Given the description of an element on the screen output the (x, y) to click on. 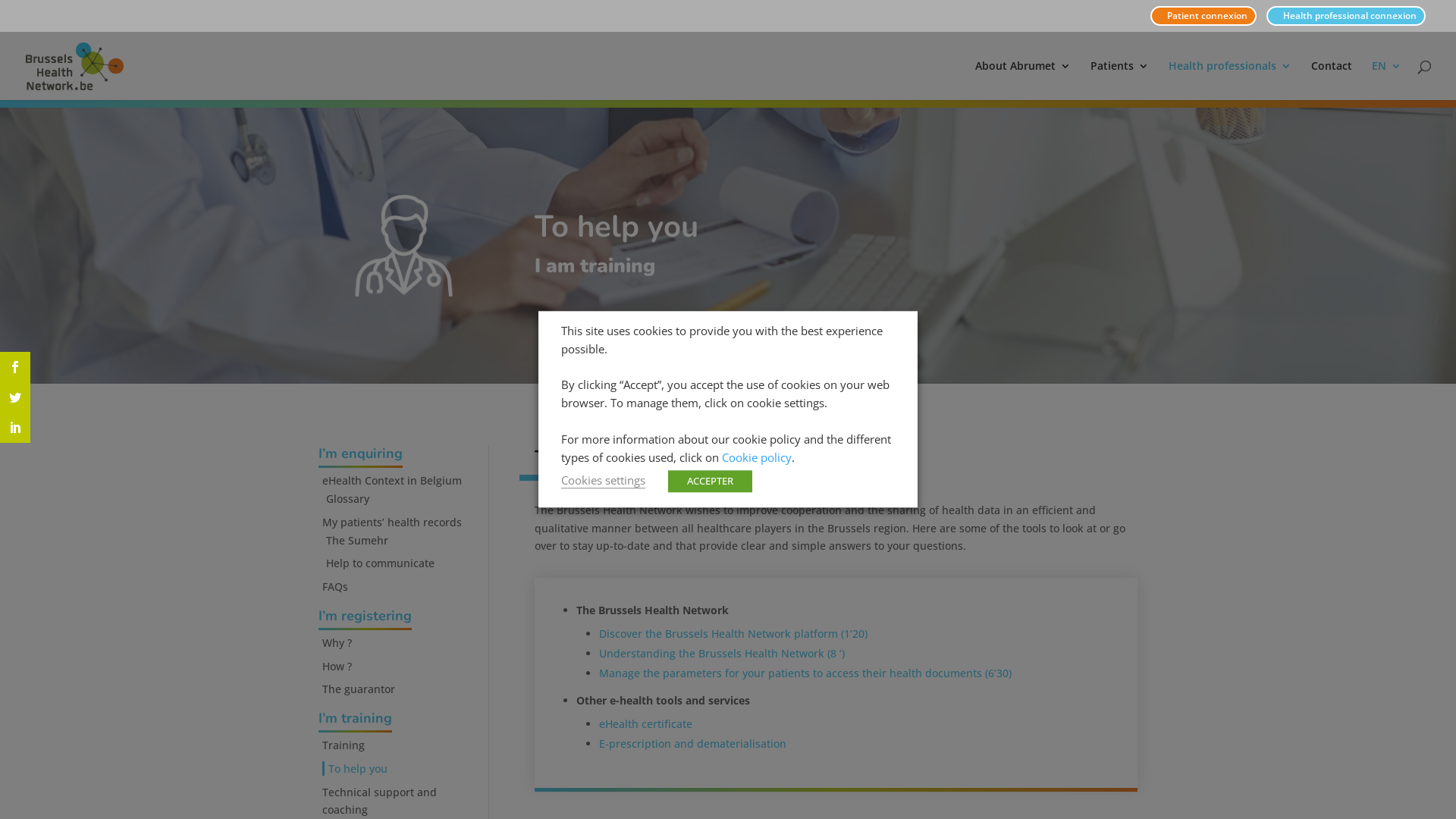
The Sumehr Element type: text (357, 540)
Health professionals Element type: text (1229, 80)
Training Element type: text (343, 744)
Cookies settings Element type: text (603, 481)
The guarantor Element type: text (358, 688)
picto-prof-final Element type: hover (403, 245)
Health professional connexion Element type: text (1345, 15)
eHealth Context in Belgium Element type: text (391, 480)
How ? Element type: text (336, 665)
FAQs Element type: text (335, 586)
EN Element type: text (1386, 80)
Patient connexion Element type: text (1203, 15)
Help to communicate Element type: text (380, 562)
Contact Element type: text (1331, 80)
Why ? Element type: text (336, 642)
Cookie policy Element type: text (756, 456)
About Abrumet Element type: text (1022, 80)
E-prescription and dematerialisation Element type: text (692, 743)
Patients Element type: text (1119, 80)
ACCEPTER Element type: text (710, 481)
eHealth certificate Element type: text (645, 724)
Technical support and coaching Element type: text (379, 800)
To help you Element type: text (354, 768)
Glossary Element type: text (347, 498)
